Given the description of an element on the screen output the (x, y) to click on. 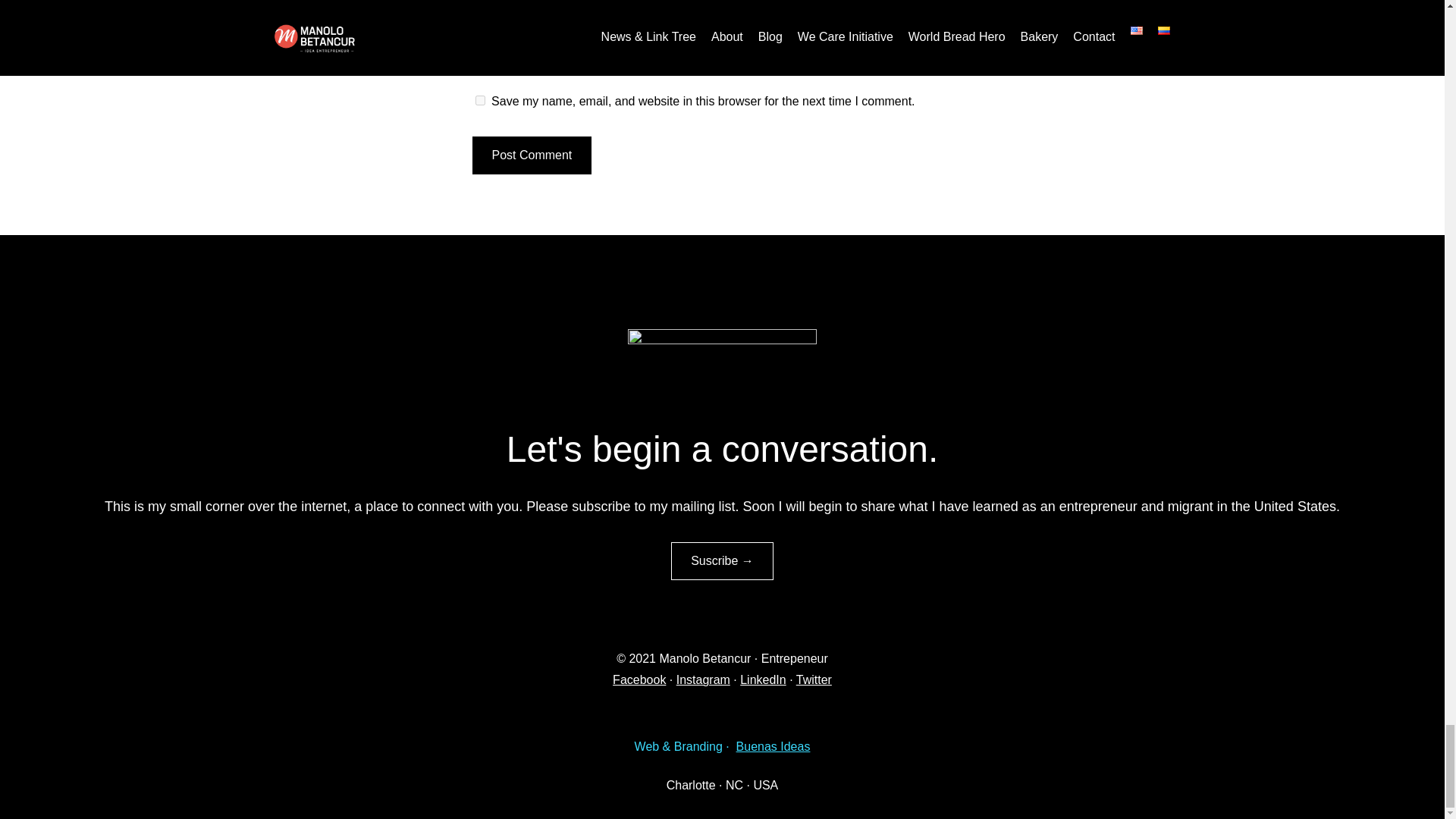
yes (479, 100)
Post Comment (531, 155)
